Given the description of an element on the screen output the (x, y) to click on. 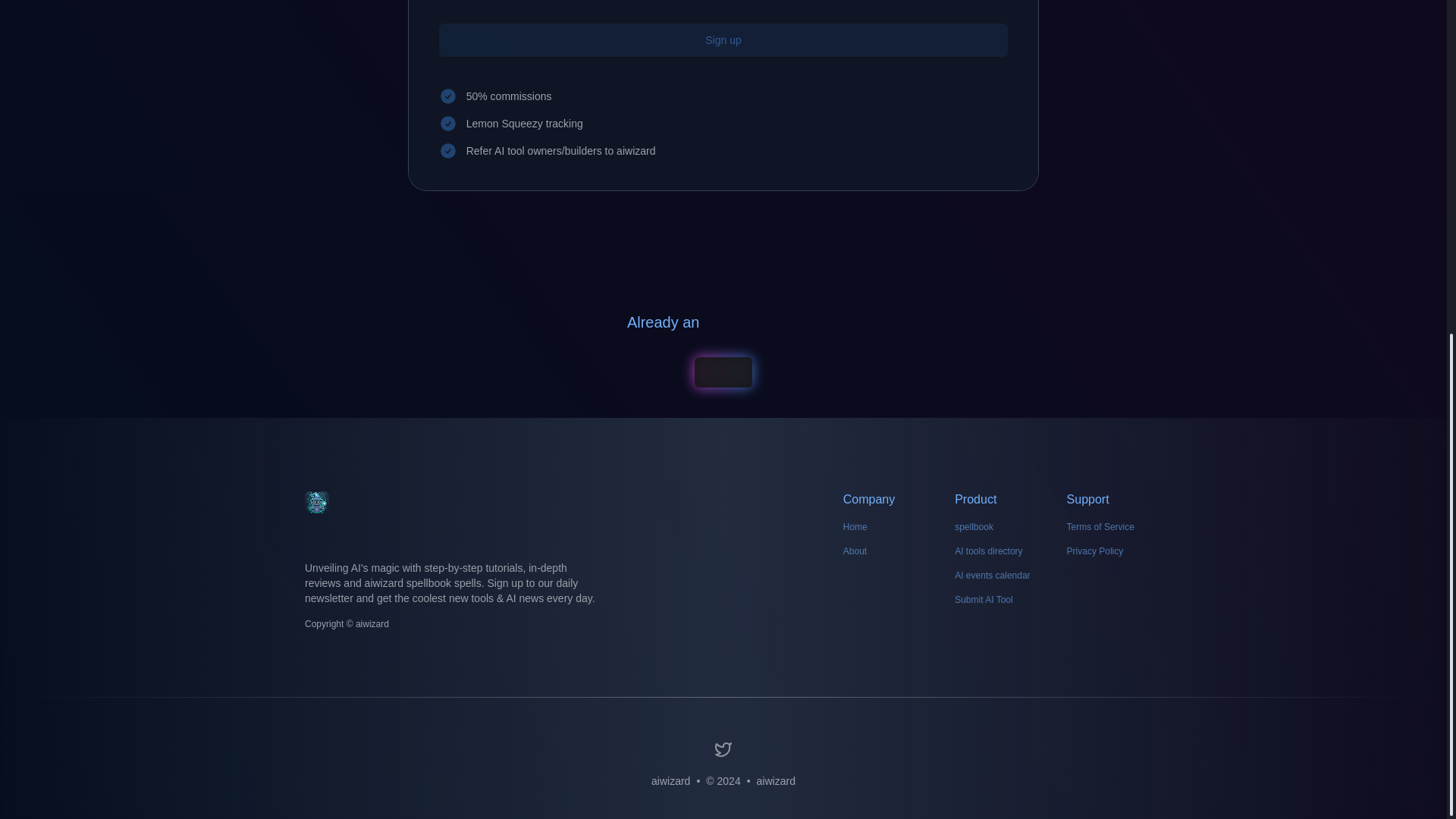
AI tools directory (988, 551)
spellbook (973, 526)
Privacy Policy (1095, 551)
Home (855, 526)
AI events calendar (992, 575)
Submit AI Tool (984, 599)
Terms of Service (1100, 526)
About (854, 551)
aiwizard (775, 780)
Sign up (724, 39)
Log in (723, 372)
